Given the description of an element on the screen output the (x, y) to click on. 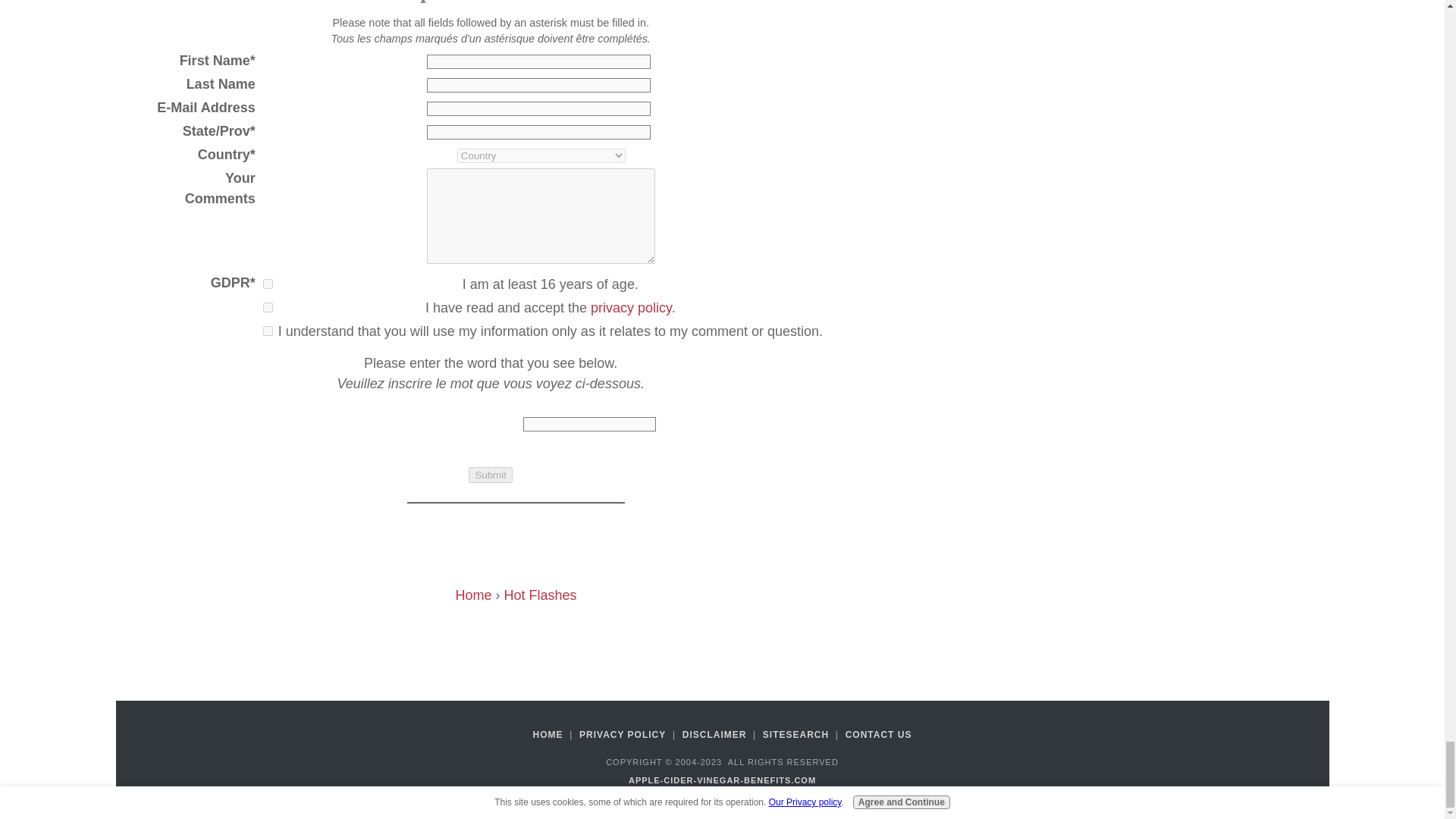
I am at least 16 years of age. (268, 284)
Submit (490, 474)
